Given the description of an element on the screen output the (x, y) to click on. 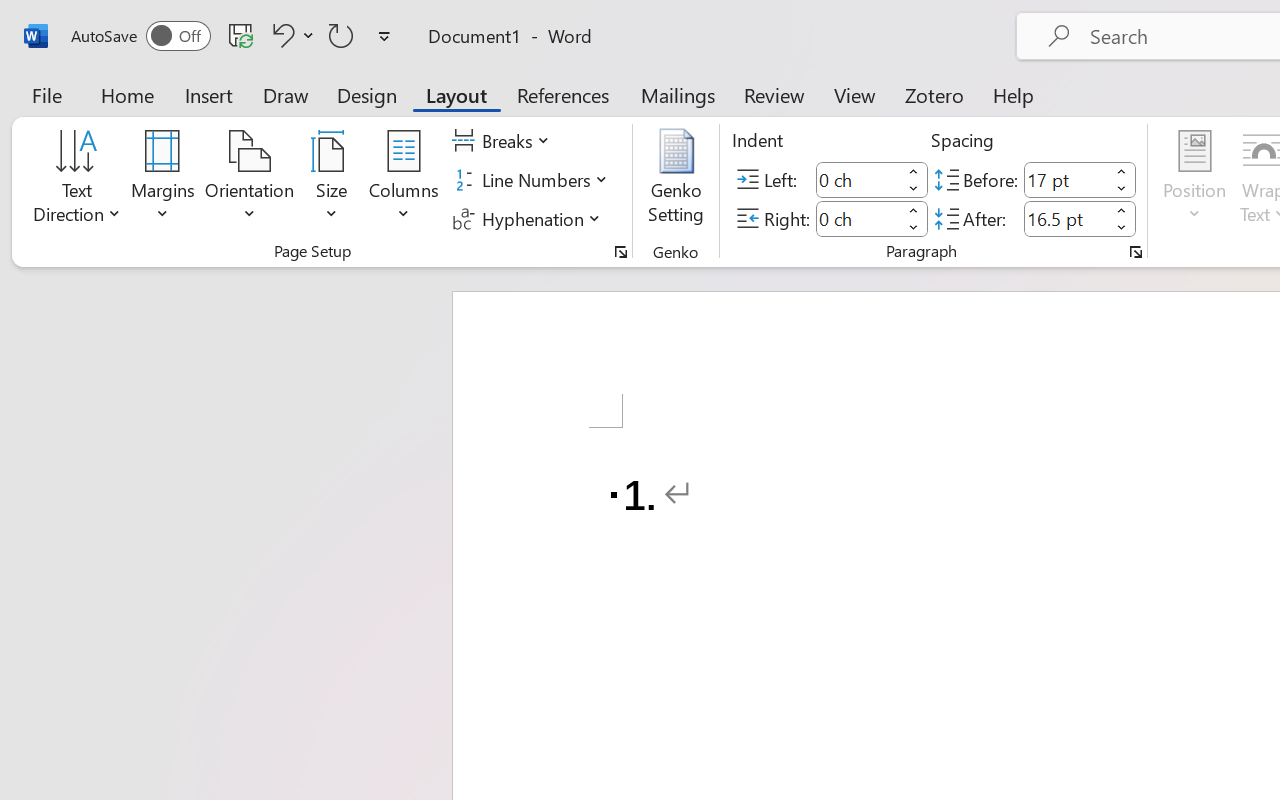
Indent Left (858, 179)
Orientation (250, 179)
Indent Right (858, 218)
Spacing After (1066, 218)
Margins (163, 179)
Line Numbers (532, 179)
